Given the description of an element on the screen output the (x, y) to click on. 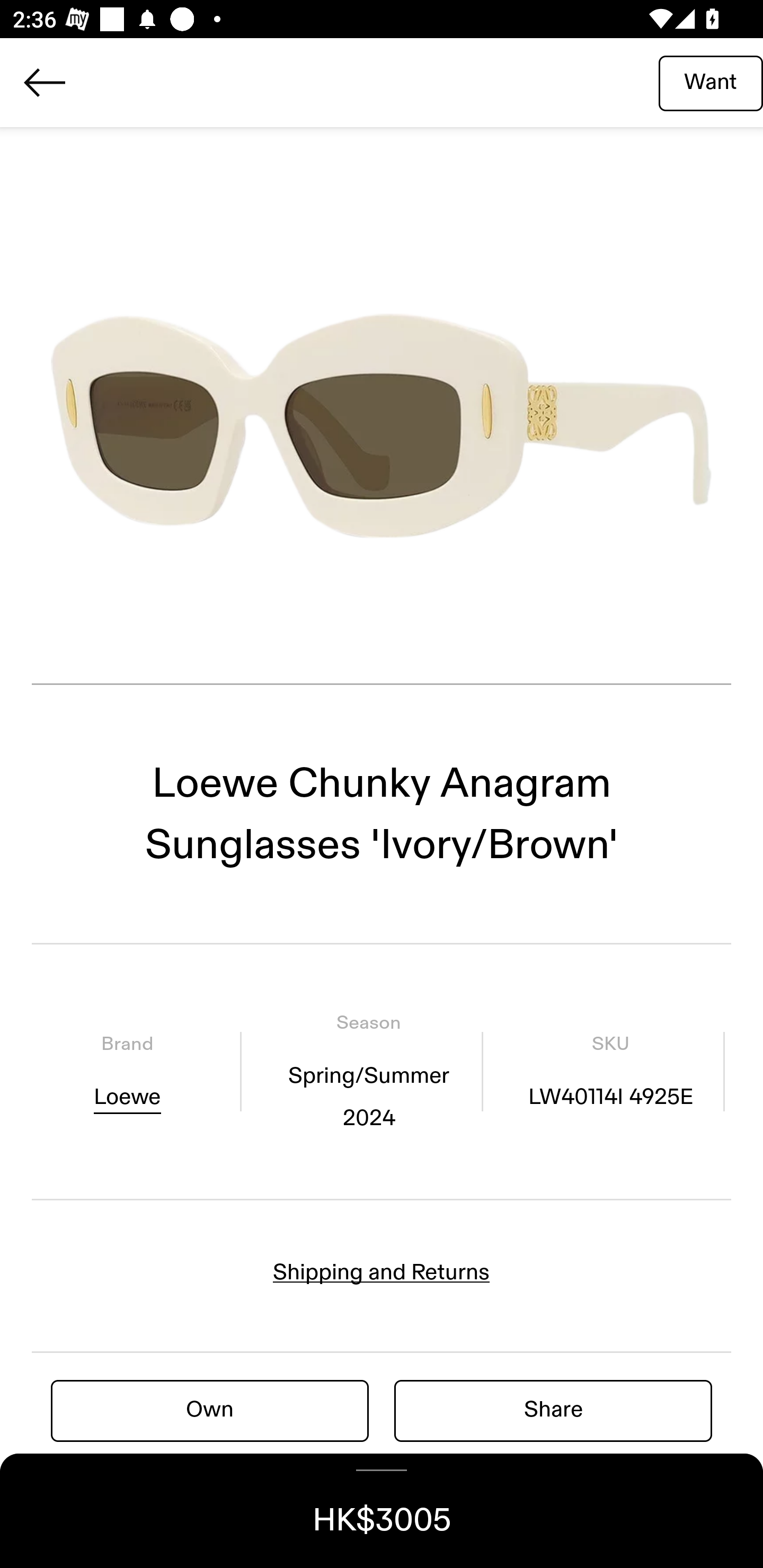
Want (710, 82)
Brand Loewe (126, 1070)
Season Spring/Summer 2024 (368, 1070)
SKU LW40114I 4925E (609, 1070)
Shipping and Returns (381, 1272)
Own (209, 1410)
Share (552, 1410)
HK$3005 (381, 1510)
